Given the description of an element on the screen output the (x, y) to click on. 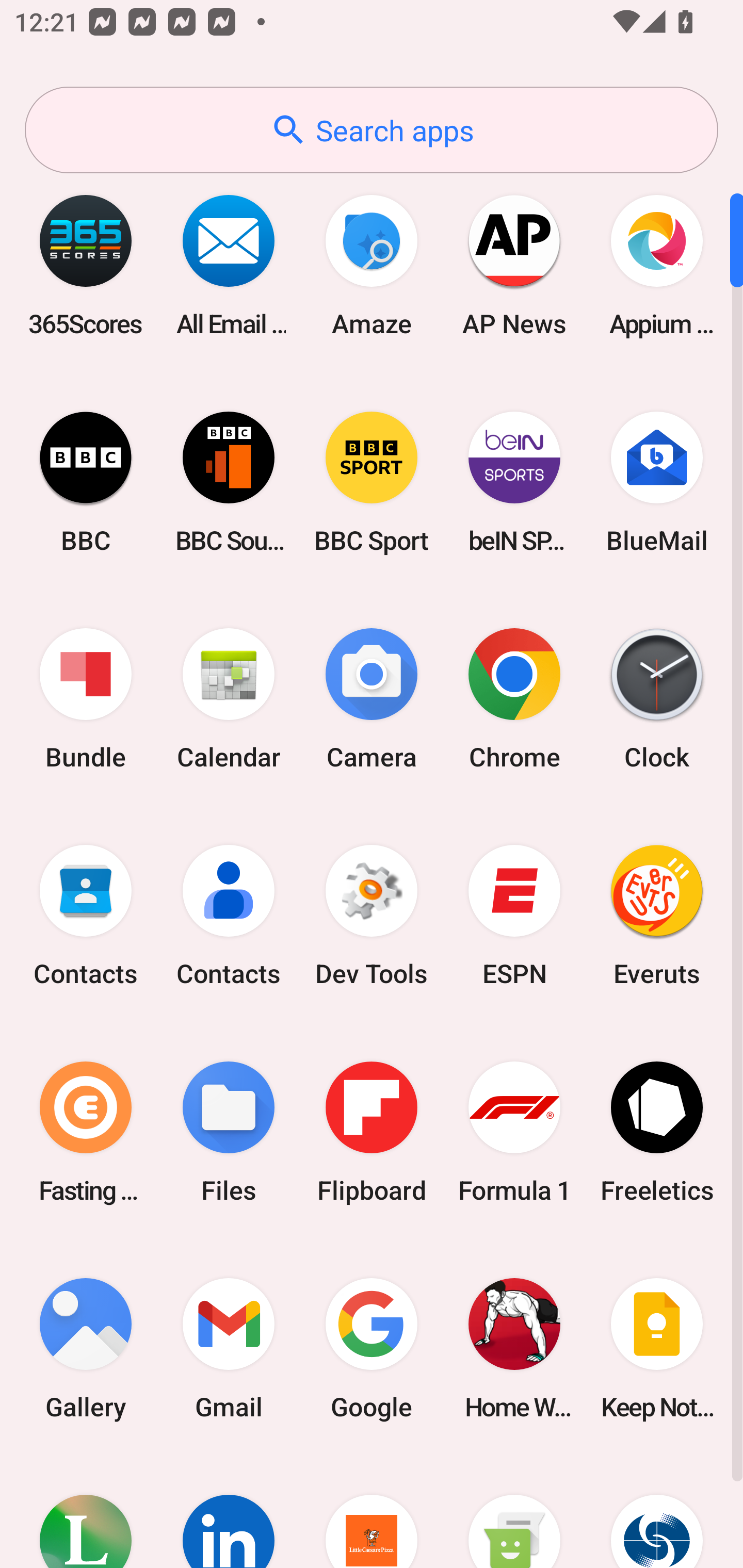
  Search apps (371, 130)
365Scores (85, 264)
All Email Connect (228, 264)
Amaze (371, 264)
AP News (514, 264)
Appium Settings (656, 264)
BBC (85, 482)
BBC Sounds (228, 482)
BBC Sport (371, 482)
beIN SPORTS (514, 482)
BlueMail (656, 482)
Bundle (85, 699)
Calendar (228, 699)
Camera (371, 699)
Chrome (514, 699)
Clock (656, 699)
Contacts (85, 915)
Contacts (228, 915)
Dev Tools (371, 915)
ESPN (514, 915)
Everuts (656, 915)
Fasting Coach (85, 1131)
Files (228, 1131)
Flipboard (371, 1131)
Formula 1 (514, 1131)
Freeletics (656, 1131)
Gallery (85, 1348)
Gmail (228, 1348)
Google (371, 1348)
Home Workout (514, 1348)
Keep Notes (656, 1348)
Lifesum (85, 1512)
LinkedIn (228, 1512)
Little Caesars Pizza (371, 1512)
Messaging (514, 1512)
MyObservatory (656, 1512)
